Given the description of an element on the screen output the (x, y) to click on. 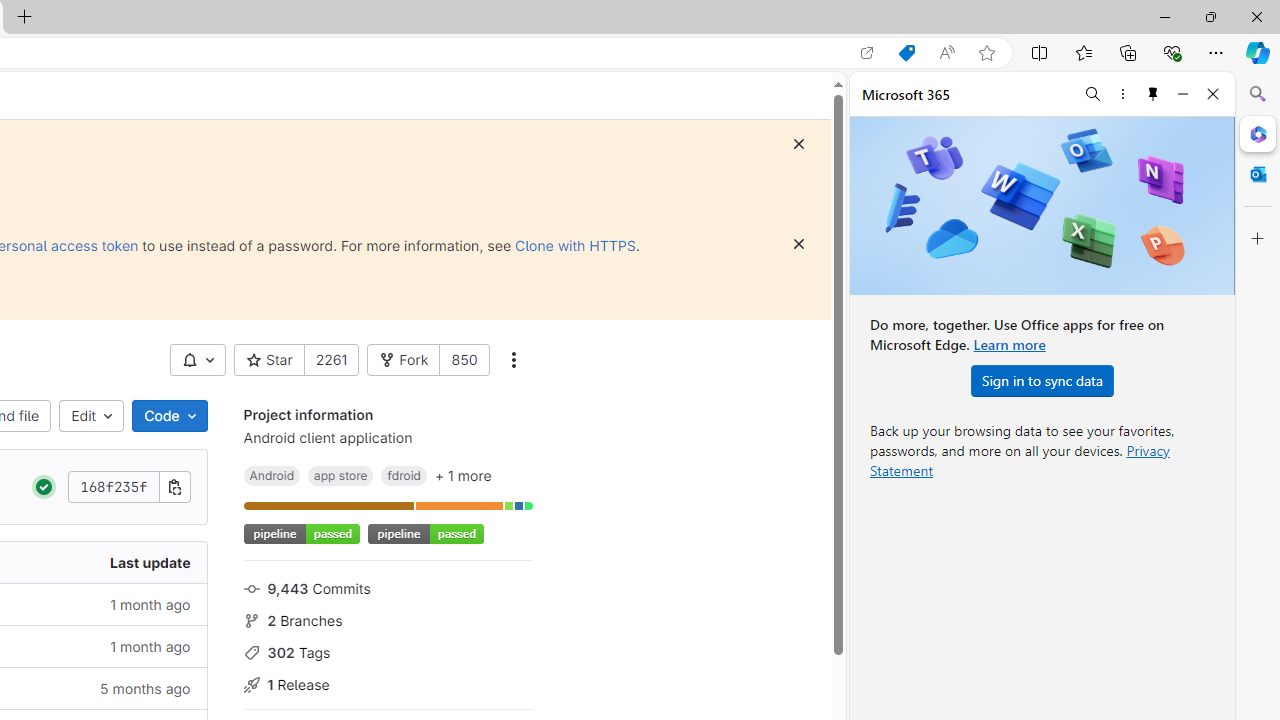
Android (271, 475)
9,443 Commits (387, 587)
Fork (404, 359)
1 Release (387, 682)
302 Tags (387, 651)
More actions (512, 359)
Dismiss (799, 243)
